Given the description of an element on the screen output the (x, y) to click on. 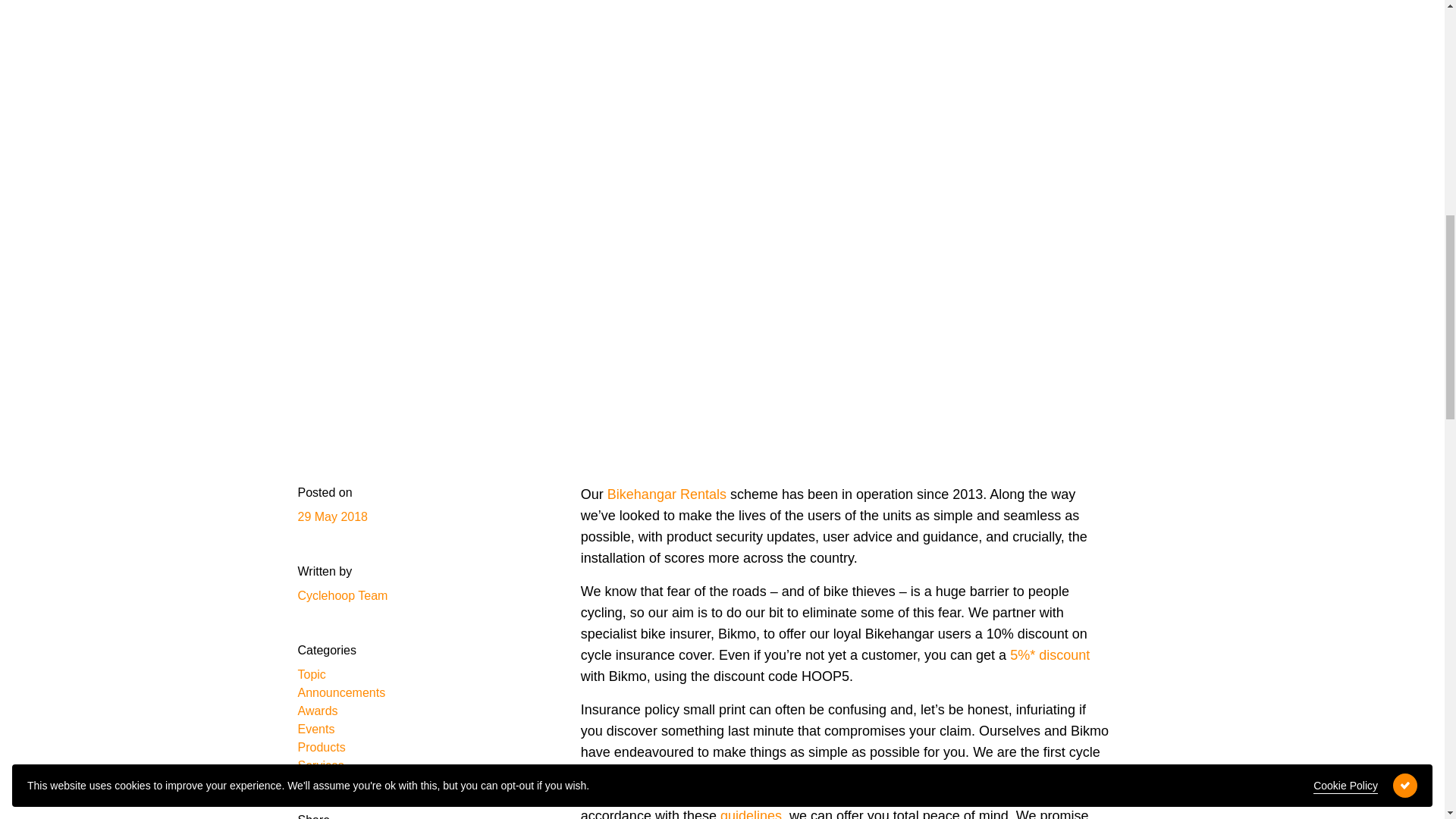
Awards (420, 710)
Bikehangar Rentals (666, 494)
Events (420, 729)
Announcements (420, 692)
Services (420, 765)
guidelines (750, 813)
Topic (420, 674)
Products (420, 747)
